Given the description of an element on the screen output the (x, y) to click on. 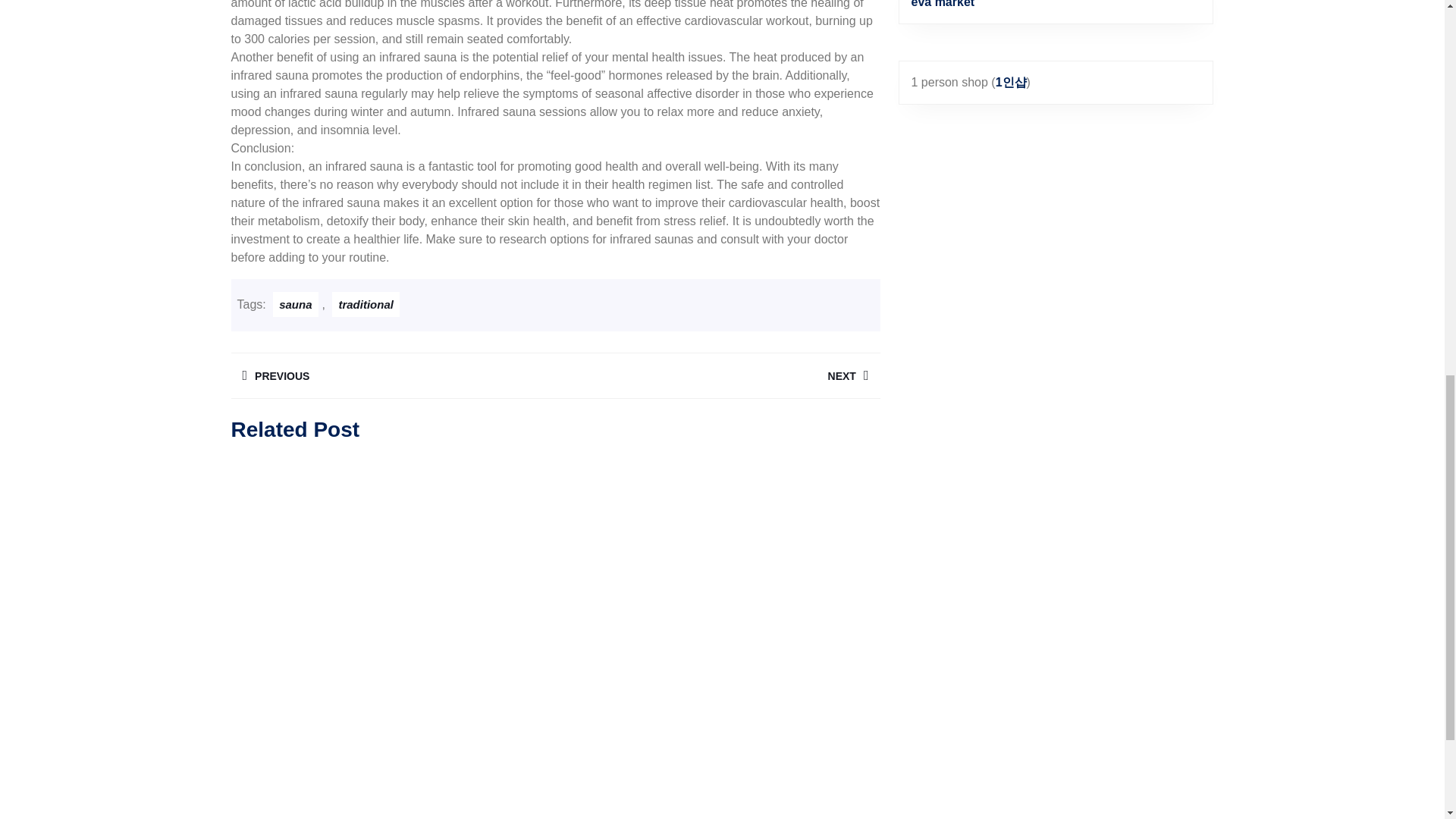
sauna (392, 375)
traditional (295, 303)
